Given the description of an element on the screen output the (x, y) to click on. 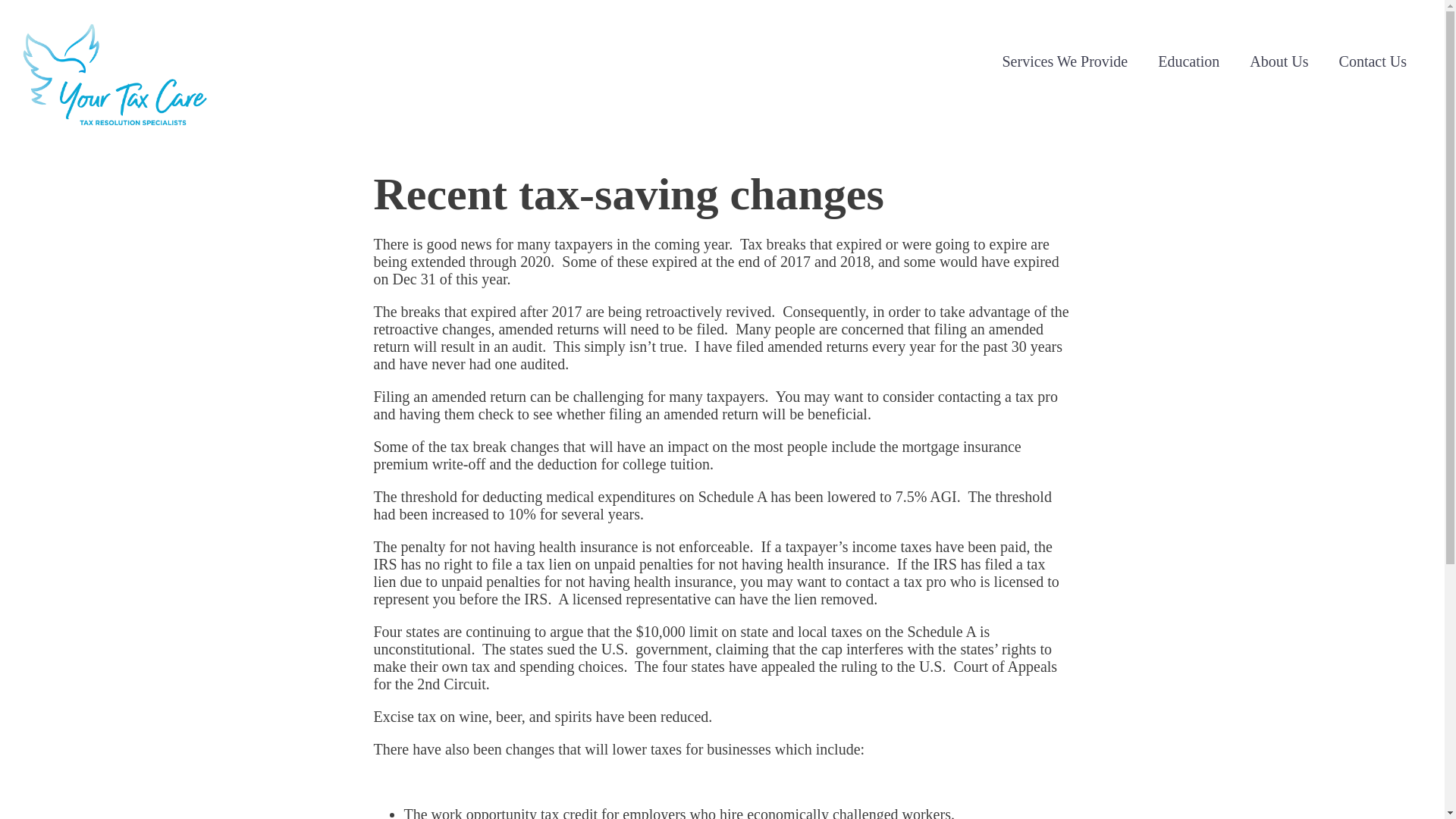
About Us (1278, 61)
Contact Us (1372, 61)
Education (1188, 61)
Services We Provide (1064, 61)
